Given the description of an element on the screen output the (x, y) to click on. 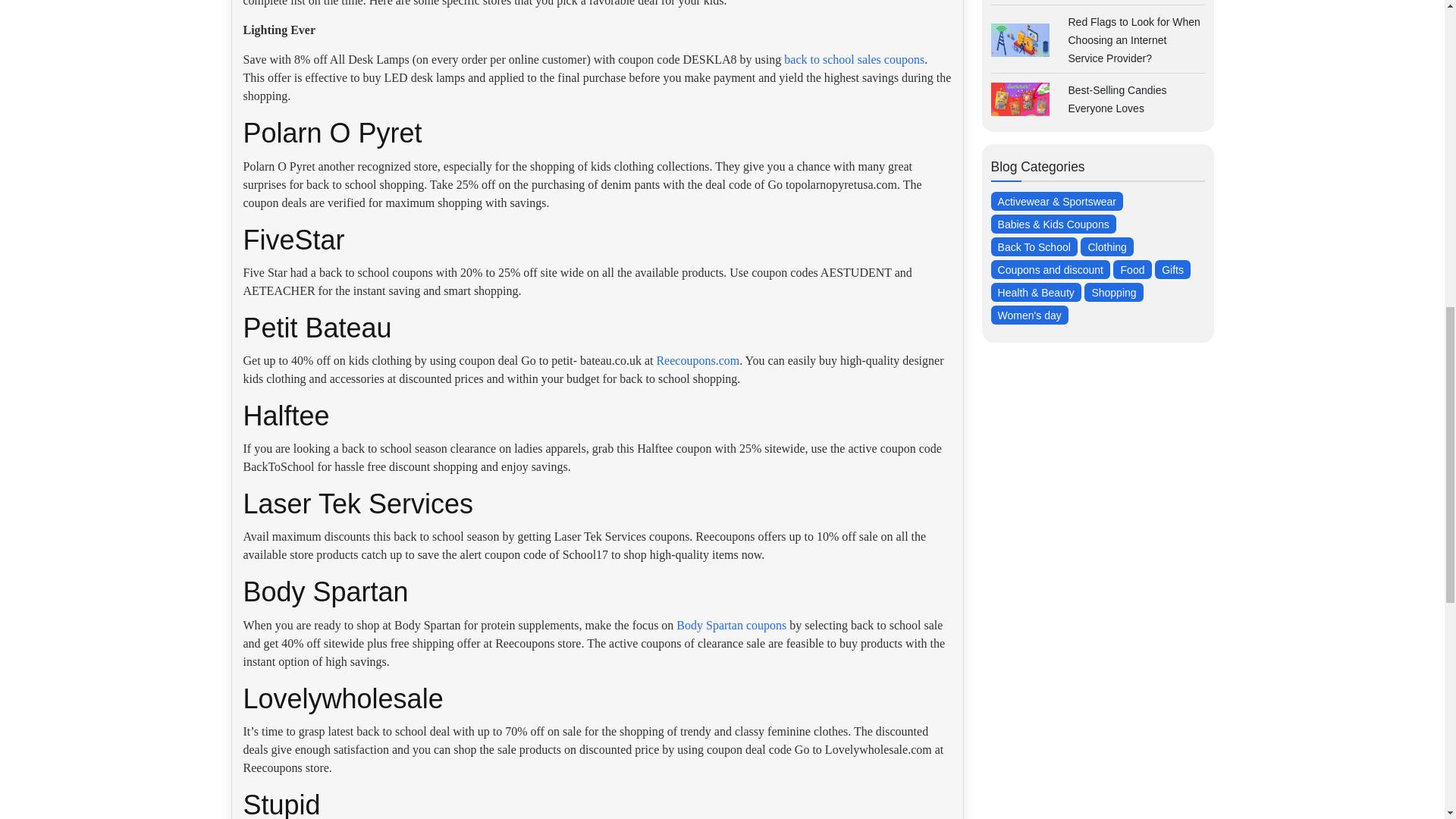
Body Spartan coupons (731, 625)
Best-Selling Candies Everyone Loves (1116, 99)
back to school sales coupons (854, 59)
Reecoupons.com (697, 359)
